Given the description of an element on the screen output the (x, y) to click on. 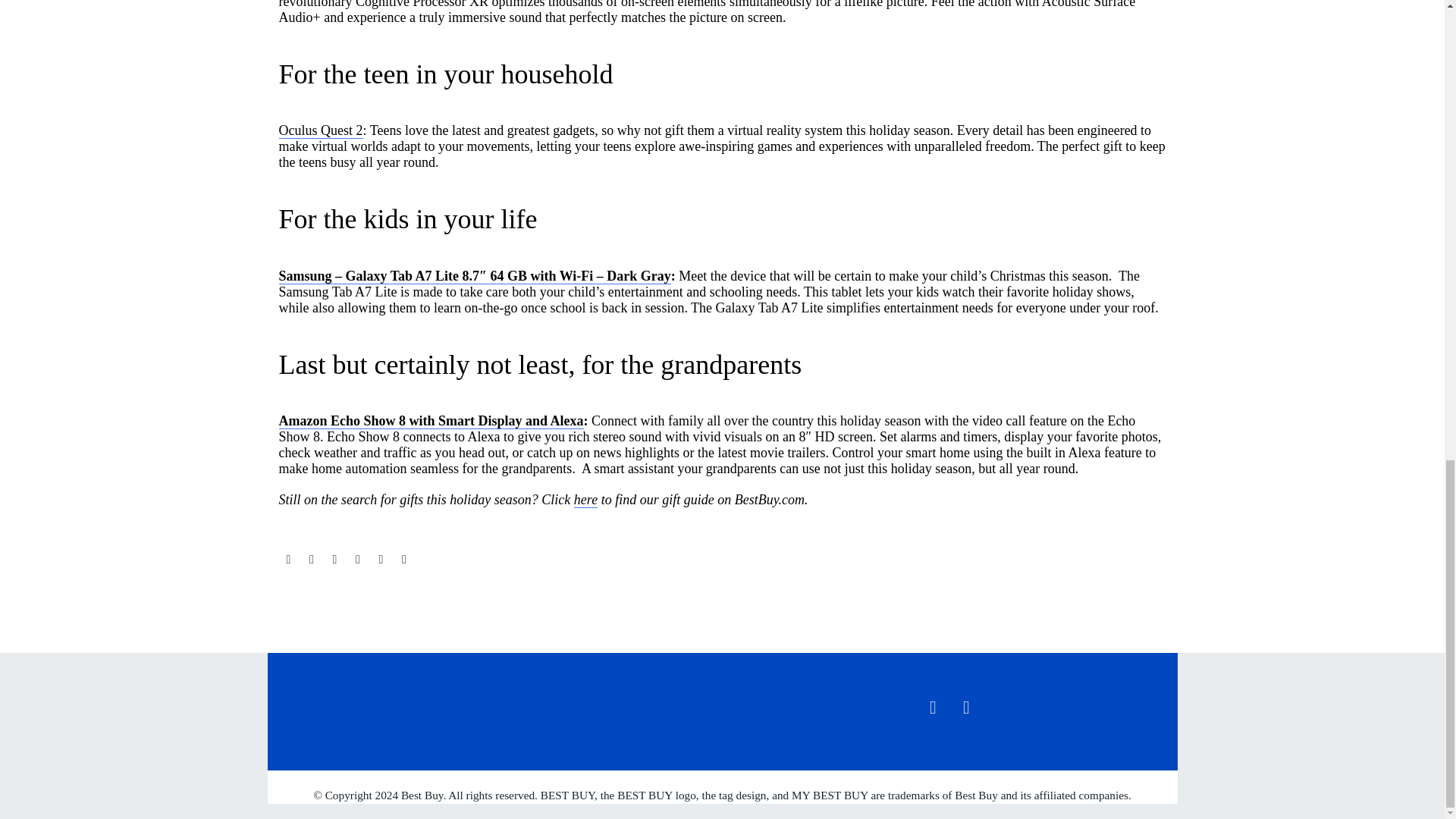
Pinterest (334, 559)
LinkedIn (380, 559)
Facebook (288, 559)
Tumblr (358, 559)
Smart Display and Alexa (510, 421)
Oculus Quest 2 (320, 130)
Reddit (403, 559)
here (584, 499)
Twitter (311, 559)
Amazon Echo Show 8 with (359, 421)
